Given the description of an element on the screen output the (x, y) to click on. 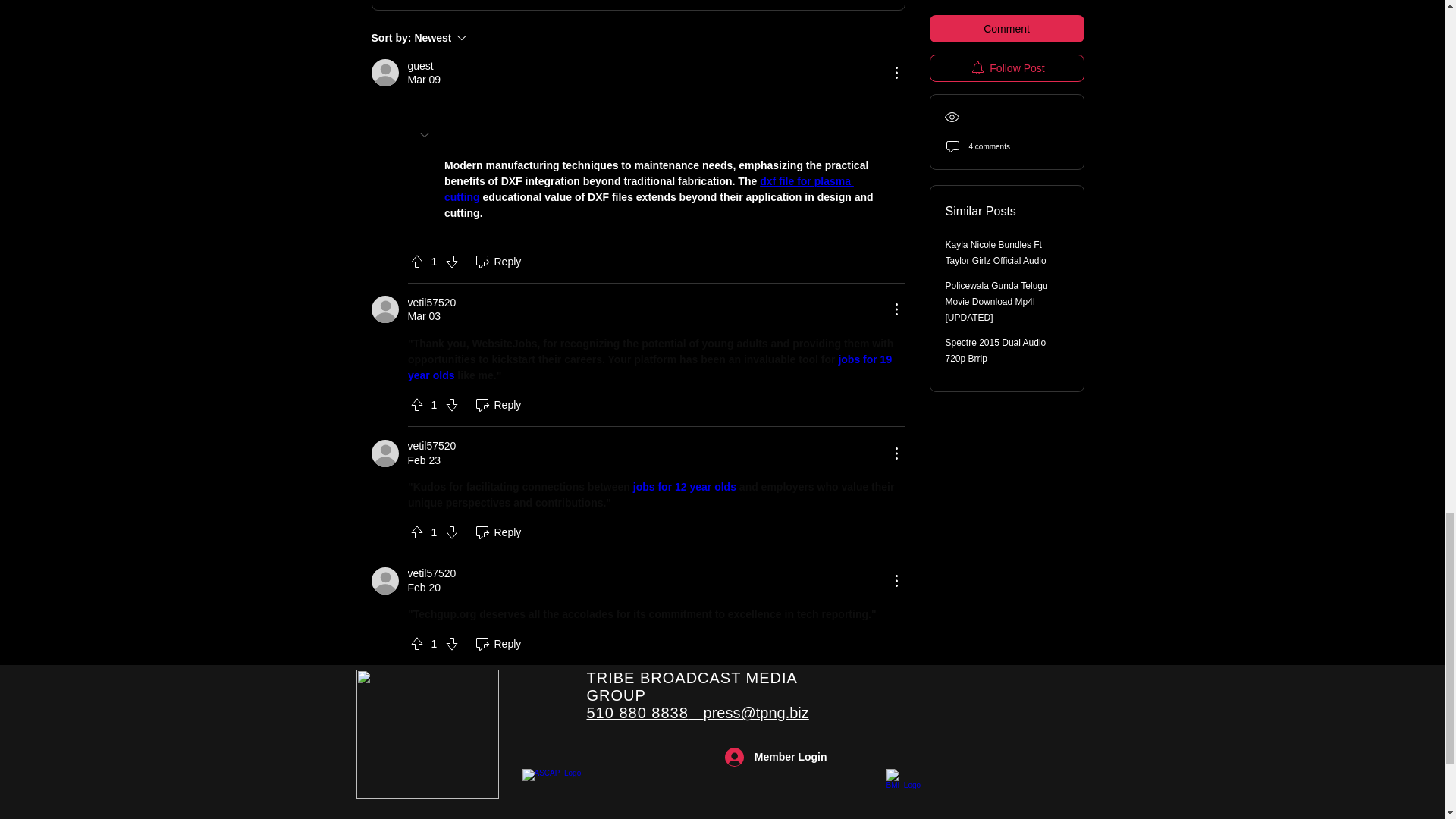
guest (420, 65)
Write a comment... (637, 4)
JOIN THE MOVEMENT  (477, 37)
dxf file for plasma cutting (427, 733)
